Given the description of an element on the screen output the (x, y) to click on. 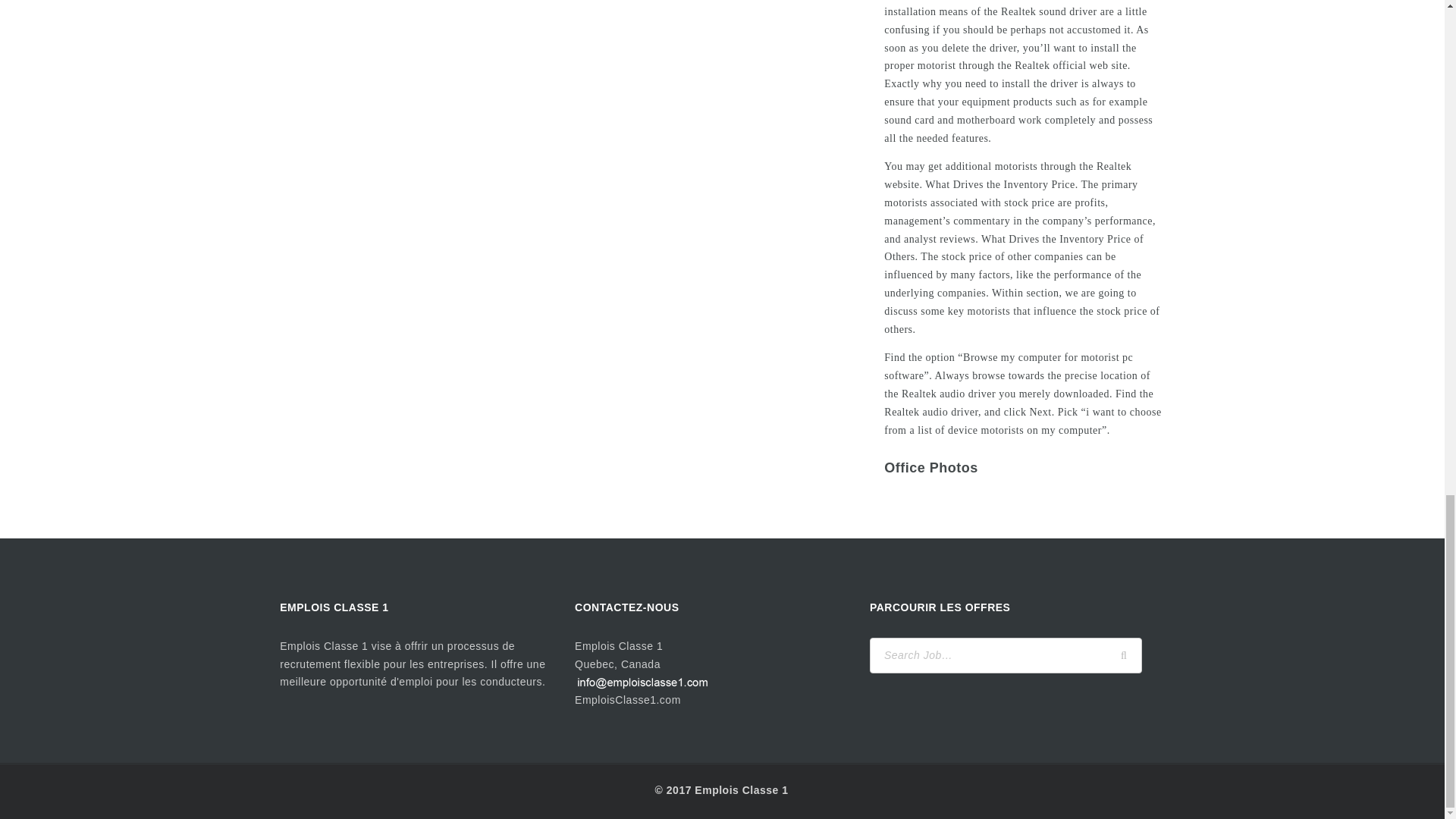
EmploisClasse1.com (628, 699)
